Given the description of an element on the screen output the (x, y) to click on. 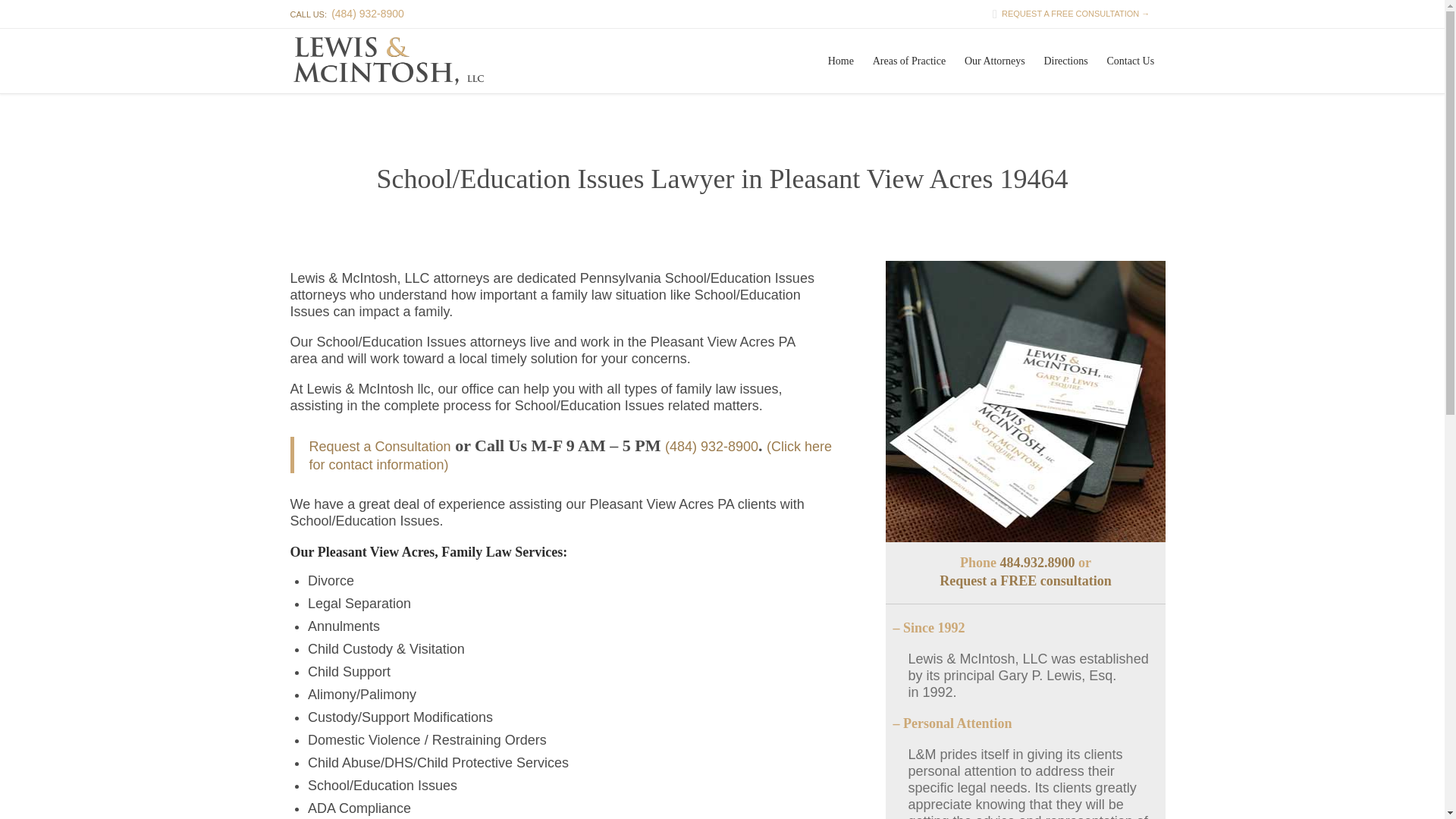
Directions (1065, 60)
Request a Consultation (379, 446)
Our Attorneys (995, 60)
Areas of Practice (909, 60)
Request a FREE consultation (1025, 580)
484.932.8900 (1036, 562)
Home (840, 60)
Contact Us (1130, 60)
